Given the description of an element on the screen output the (x, y) to click on. 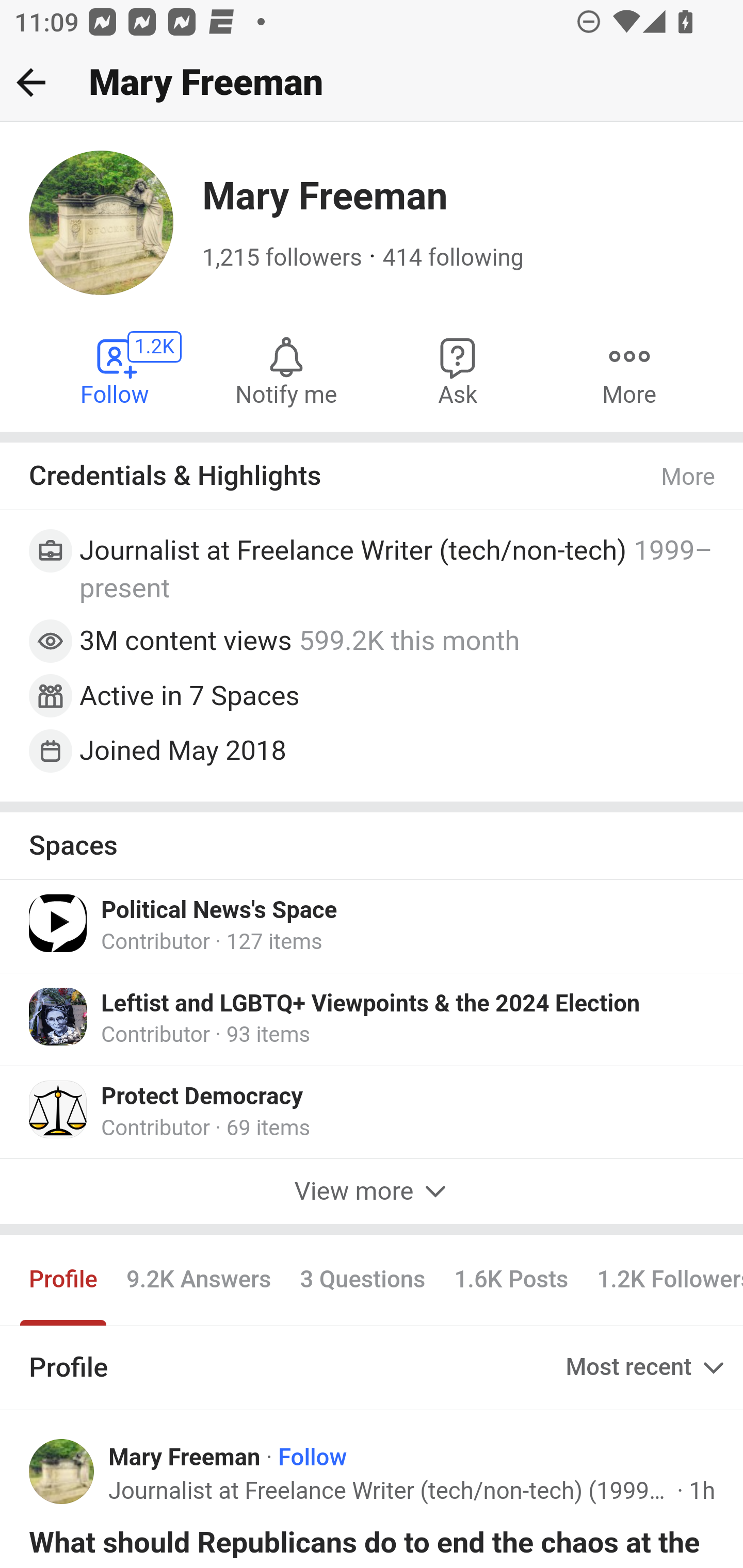
Back (30, 82)
1,215 followers (282, 257)
414 following (452, 257)
Follow Mary Freeman 1.2K Follow (115, 370)
Notify me (285, 370)
Ask (458, 370)
More (628, 370)
More (688, 477)
Icon for Political News's Space (58, 923)
Political News's Space (219, 910)
Leftist and LGBTQ+ Viewpoints & the 2024 Election (370, 1004)
Icon for Protect Democracy (58, 1108)
Protect Democracy (202, 1096)
View more (371, 1190)
Profile (63, 1279)
9.2K Answers (197, 1279)
3 Questions (362, 1279)
1.6K Posts (510, 1279)
1.2K Followers (662, 1279)
Most recent (647, 1367)
Profile photo for Mary Freeman (61, 1471)
Mary Freeman (184, 1457)
Follow (312, 1457)
